Given the description of an element on the screen output the (x, y) to click on. 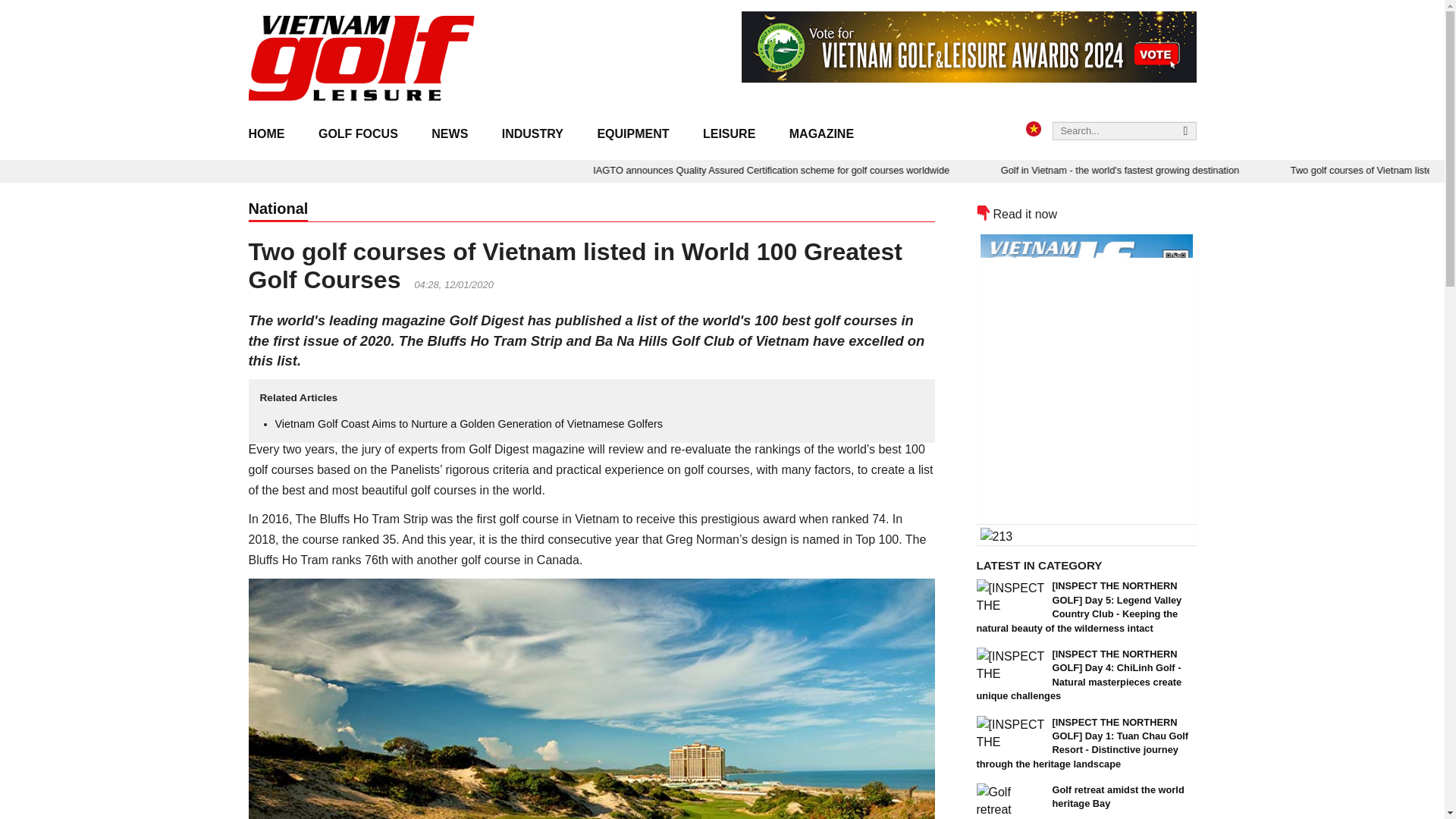
HOME (273, 134)
GOLF FOCUS (357, 134)
VGM - Vietnam Golf Magazine (362, 58)
LEISURE (728, 134)
EQUIPMENT (632, 134)
NEWS (449, 134)
Golf in Vietnam - the world's fastest growing destination (1224, 170)
National (278, 209)
